Given the description of an element on the screen output the (x, y) to click on. 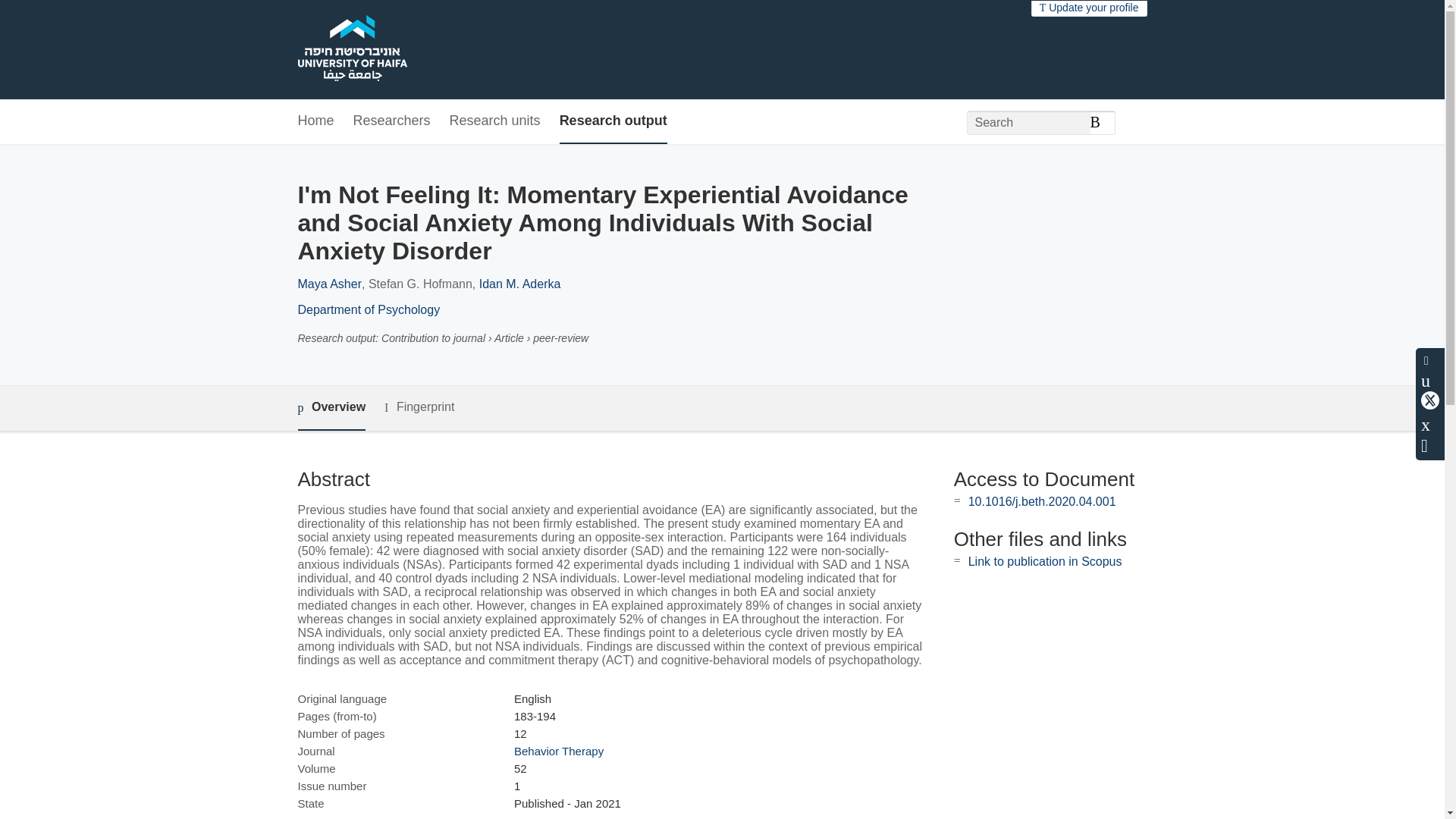
Maya Asher (329, 283)
University of Haifa Home (351, 49)
Link to publication in Scopus (1045, 561)
Update your profile (1089, 7)
Overview (331, 407)
Researchers (391, 121)
Research units (494, 121)
Research output (612, 121)
Department of Psychology (368, 309)
